Given the description of an element on the screen output the (x, y) to click on. 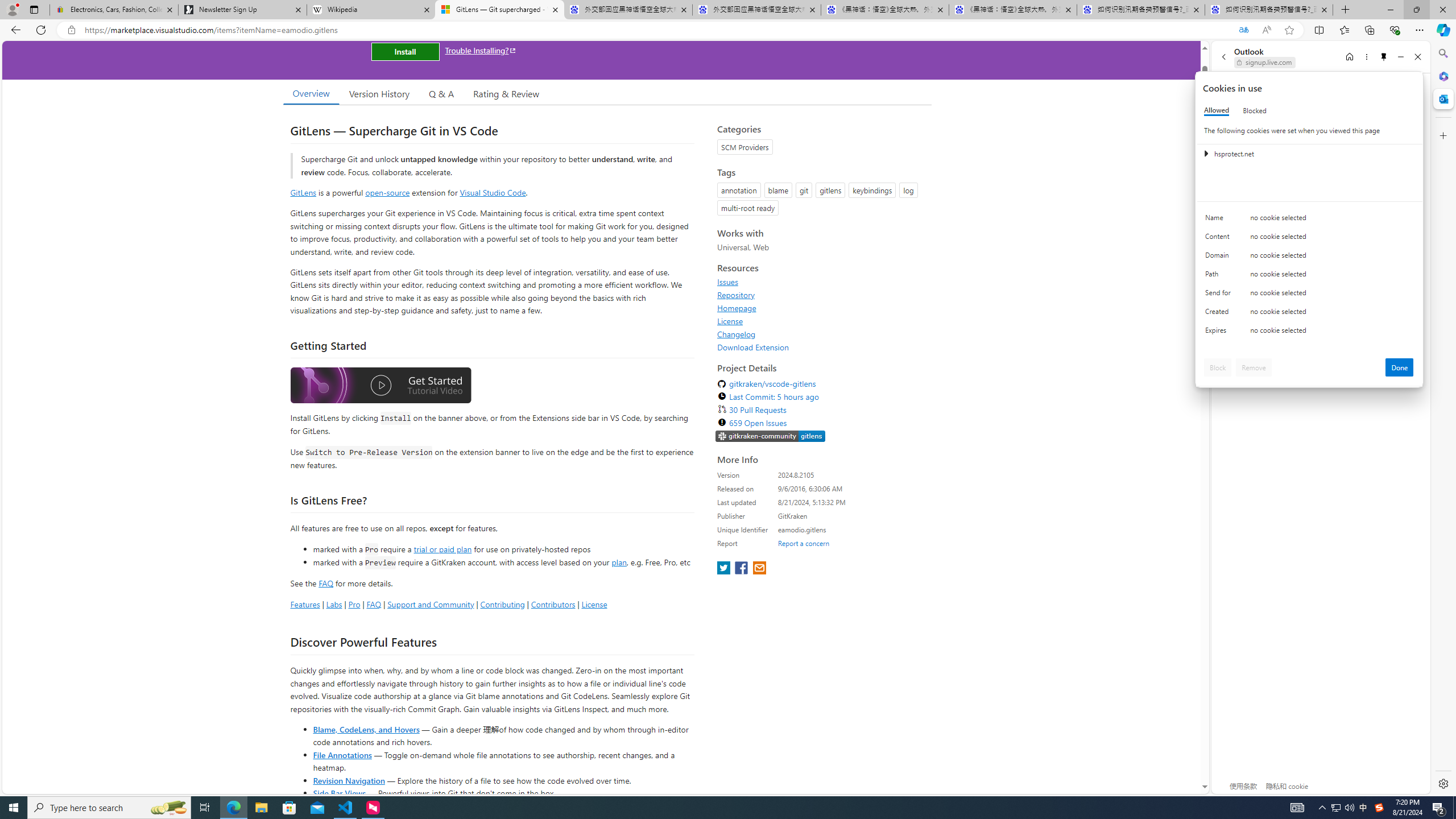
Allowed (1216, 110)
Done (1399, 367)
Path (1219, 276)
Send for (1219, 295)
Domain (1219, 257)
Content (1219, 239)
Remove (1253, 367)
Blocked (1255, 110)
Created (1219, 313)
no cookie selected (1331, 332)
Expires (1219, 332)
Name (1219, 220)
Class: c0153 c0157 (1309, 332)
Class: c0153 c0157 c0154 (1309, 220)
Block (1217, 367)
